Given the description of an element on the screen output the (x, y) to click on. 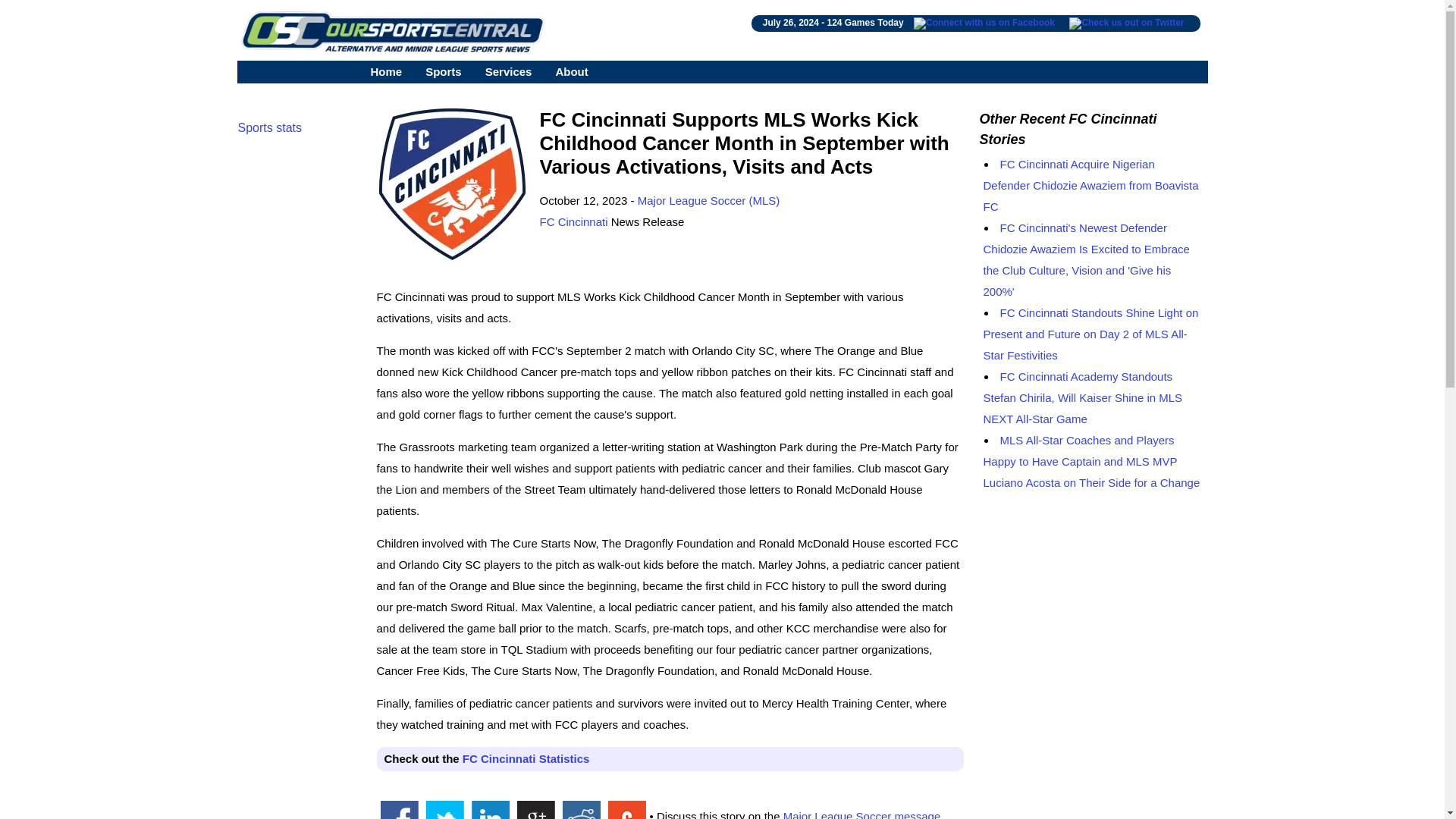
FC Cincinnati (574, 221)
FC Cincinnati Statistics (526, 758)
Sports stats (269, 127)
Home (385, 71)
124 Games Today (864, 22)
